Given the description of an element on the screen output the (x, y) to click on. 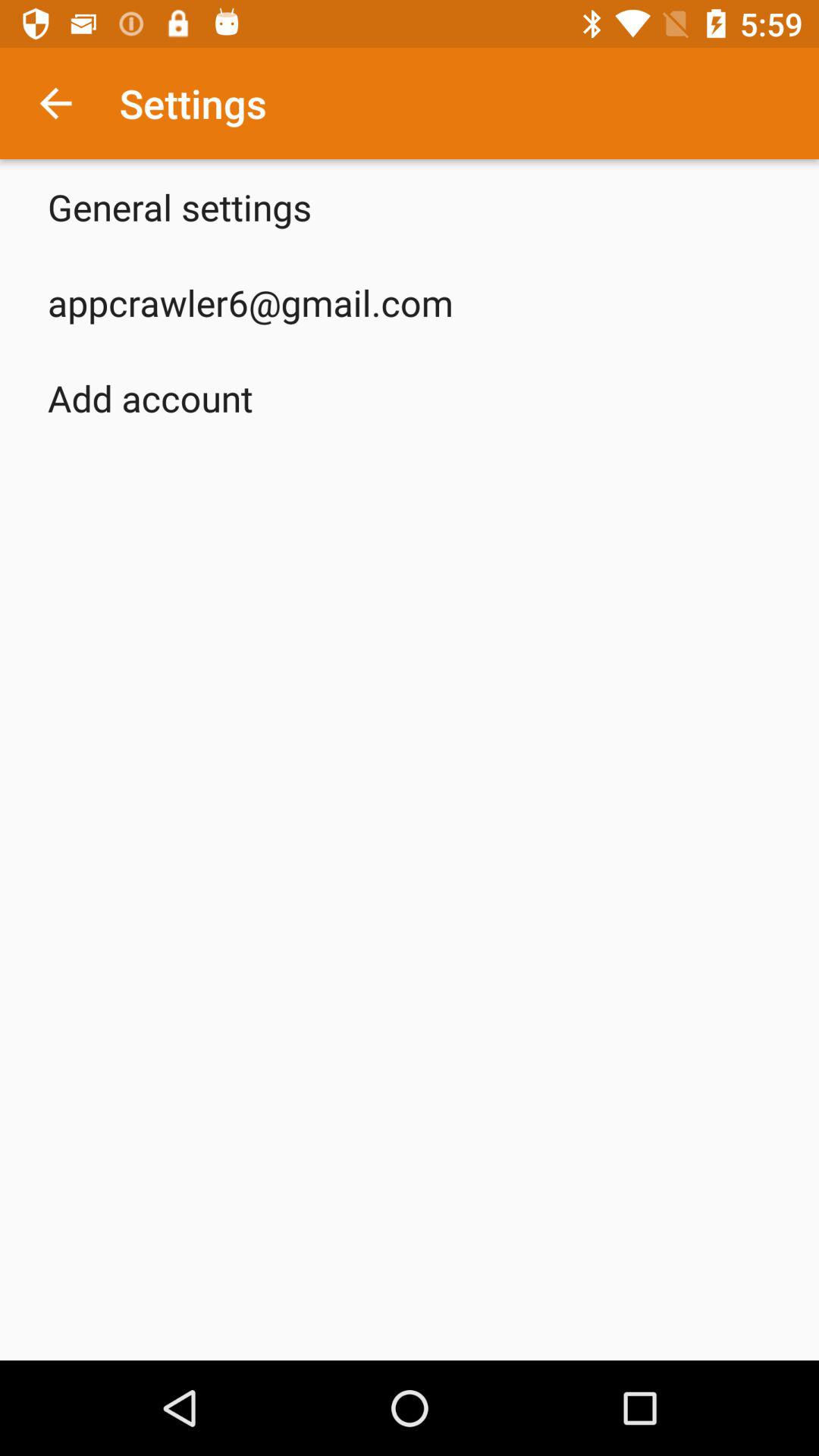
click icon below the appcrawler6@gmail.com app (150, 397)
